Given the description of an element on the screen output the (x, y) to click on. 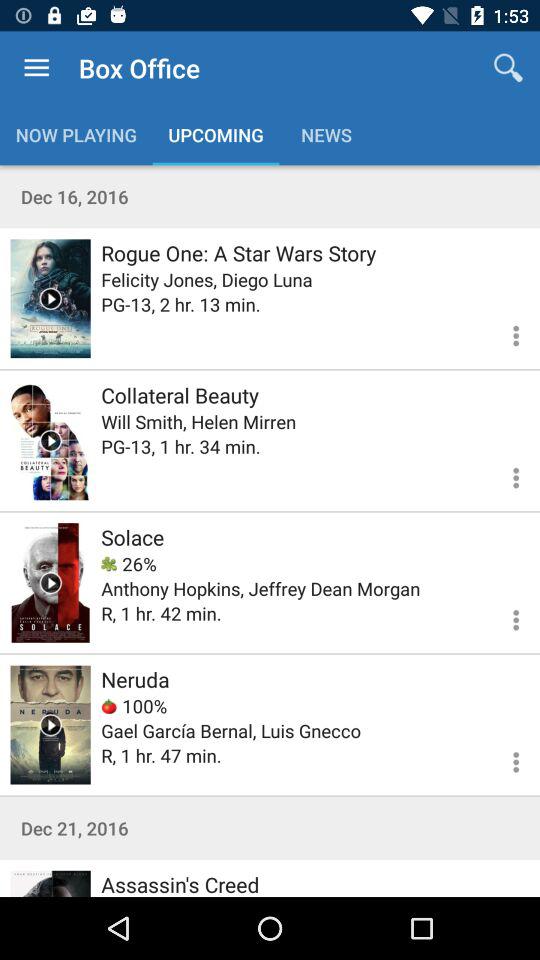
open item below rogue one a (206, 279)
